Given the description of an element on the screen output the (x, y) to click on. 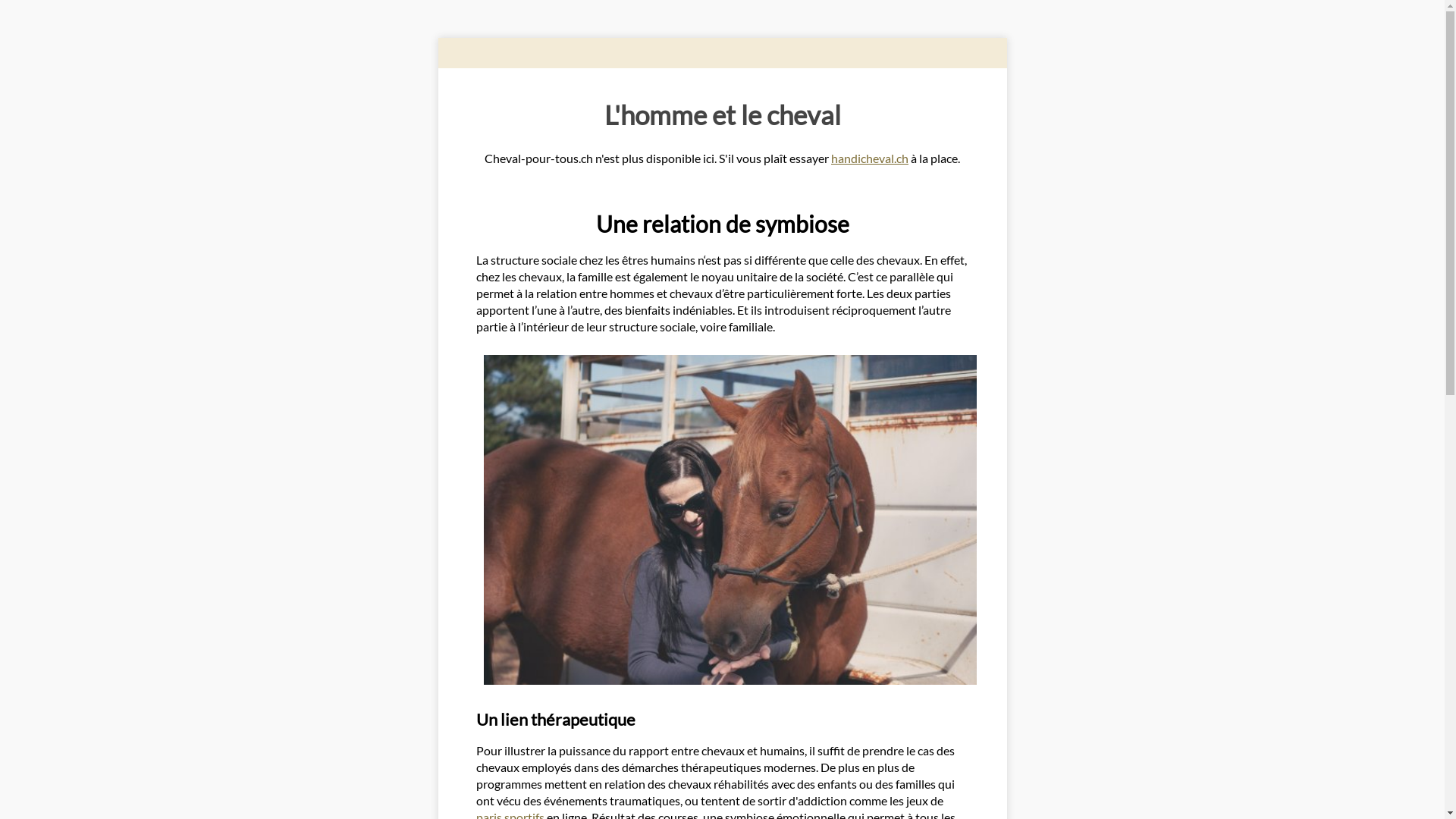
handicheval.ch Element type: text (869, 157)
